Given the description of an element on the screen output the (x, y) to click on. 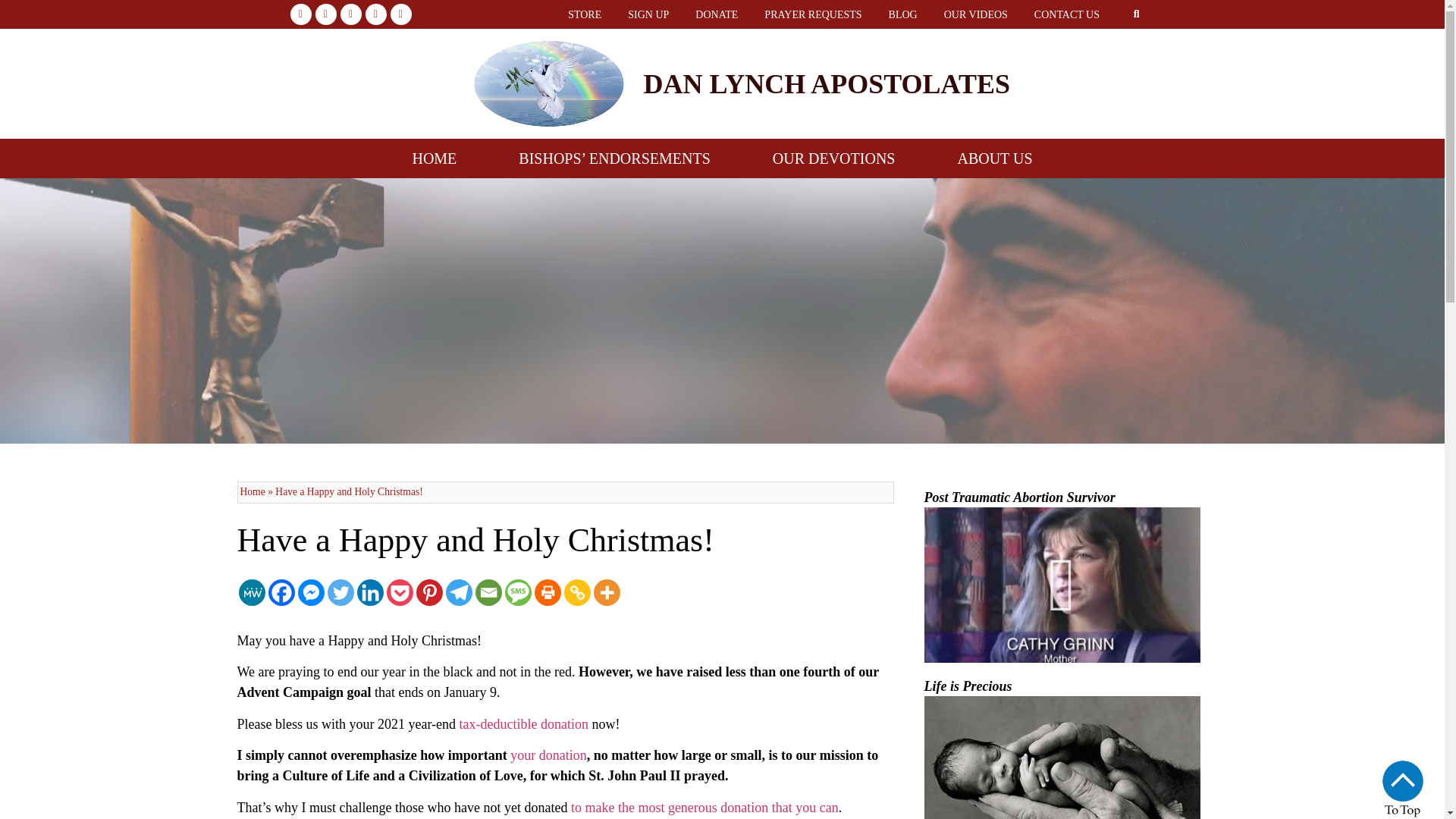
Print (547, 592)
Telegram (458, 592)
Twitter (340, 592)
Linkedin (369, 592)
OUR DEVOTIONS (833, 158)
OUR VIDEOS (975, 13)
Copy Link (577, 592)
More (606, 592)
SIGN UP (647, 13)
CONTACT US (1066, 13)
